Given the description of an element on the screen output the (x, y) to click on. 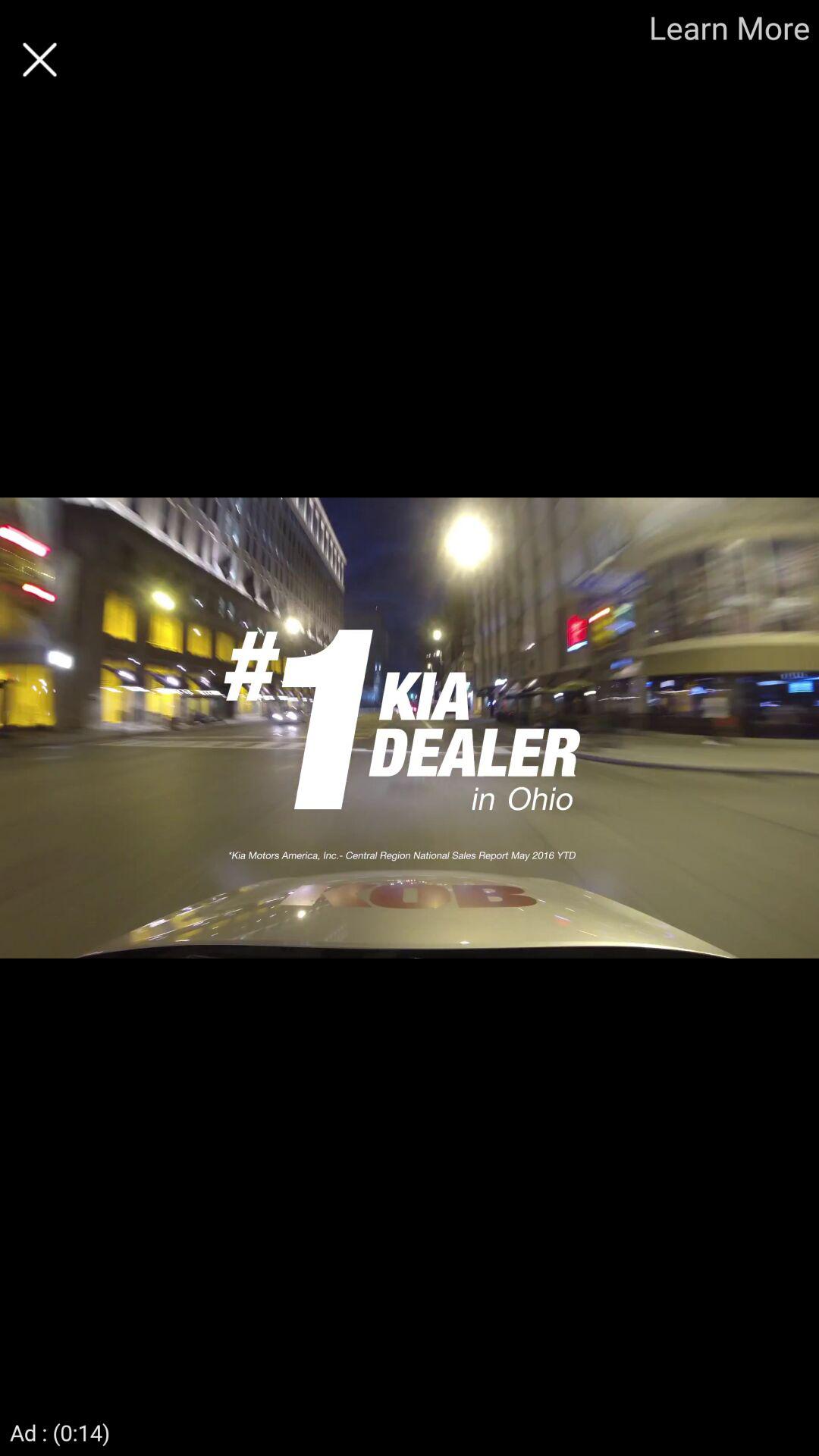
close screen (39, 59)
